Given the description of an element on the screen output the (x, y) to click on. 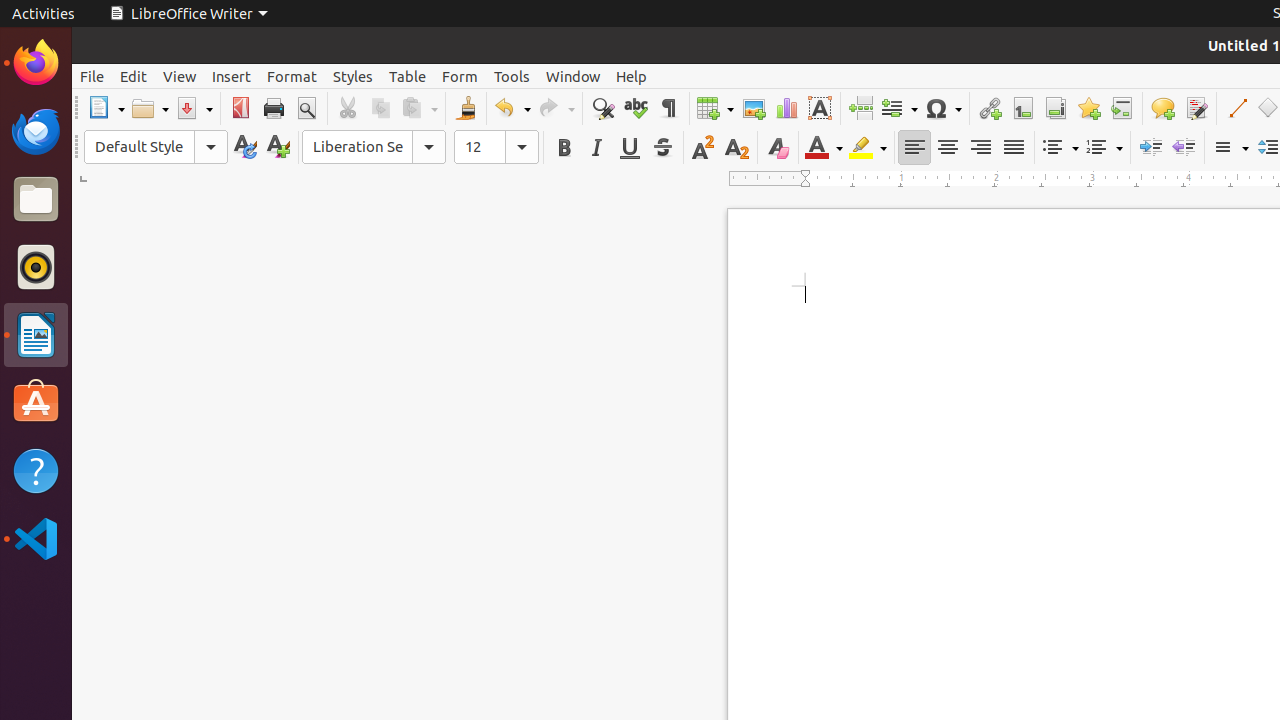
Form Element type: menu (460, 76)
Edit Element type: menu (133, 76)
Thunderbird Mail Element type: push-button (36, 131)
Styles Element type: menu (353, 76)
PDF Element type: push-button (240, 108)
